Given the description of an element on the screen output the (x, y) to click on. 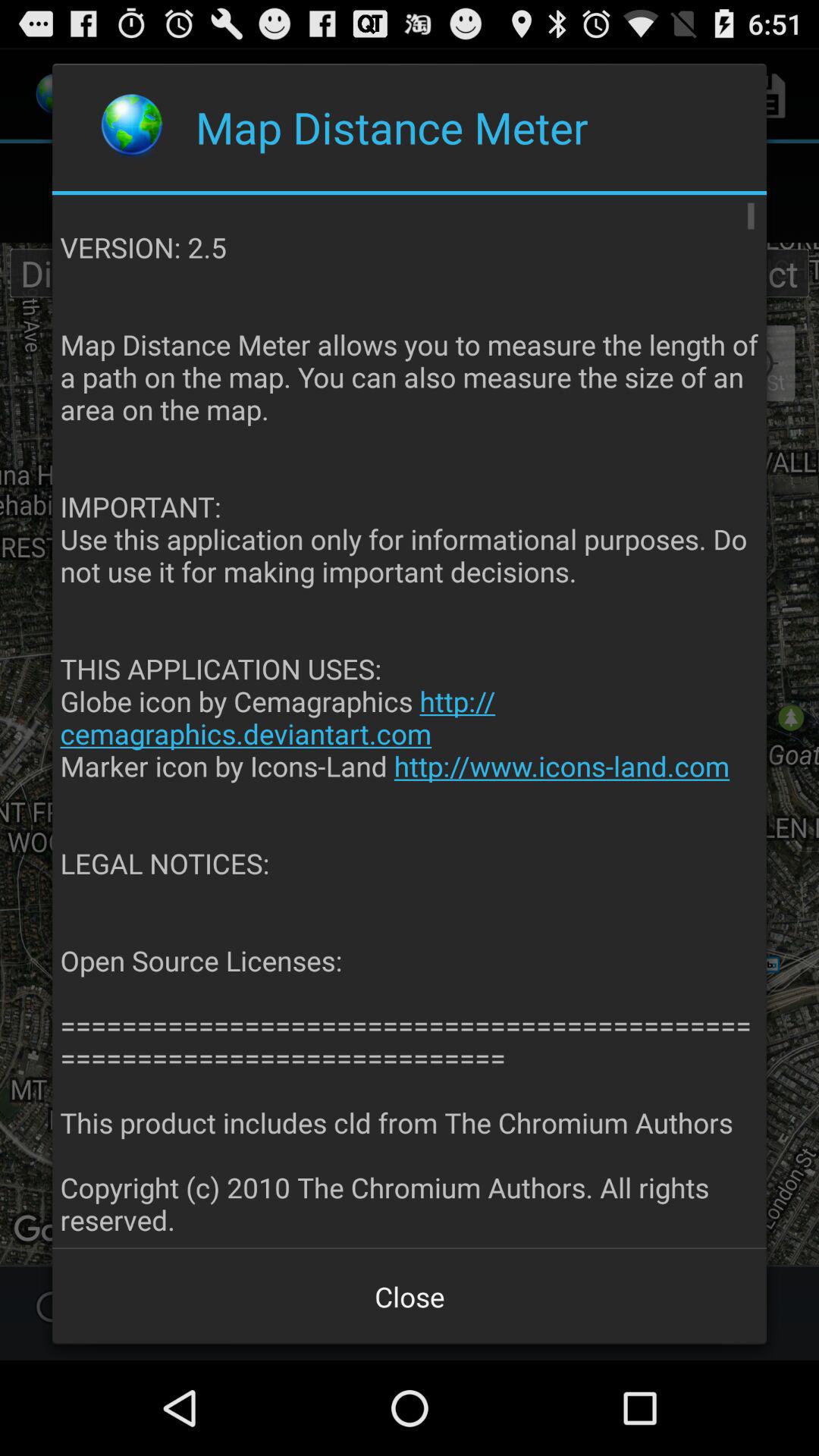
select the close (409, 1296)
